Given the description of an element on the screen output the (x, y) to click on. 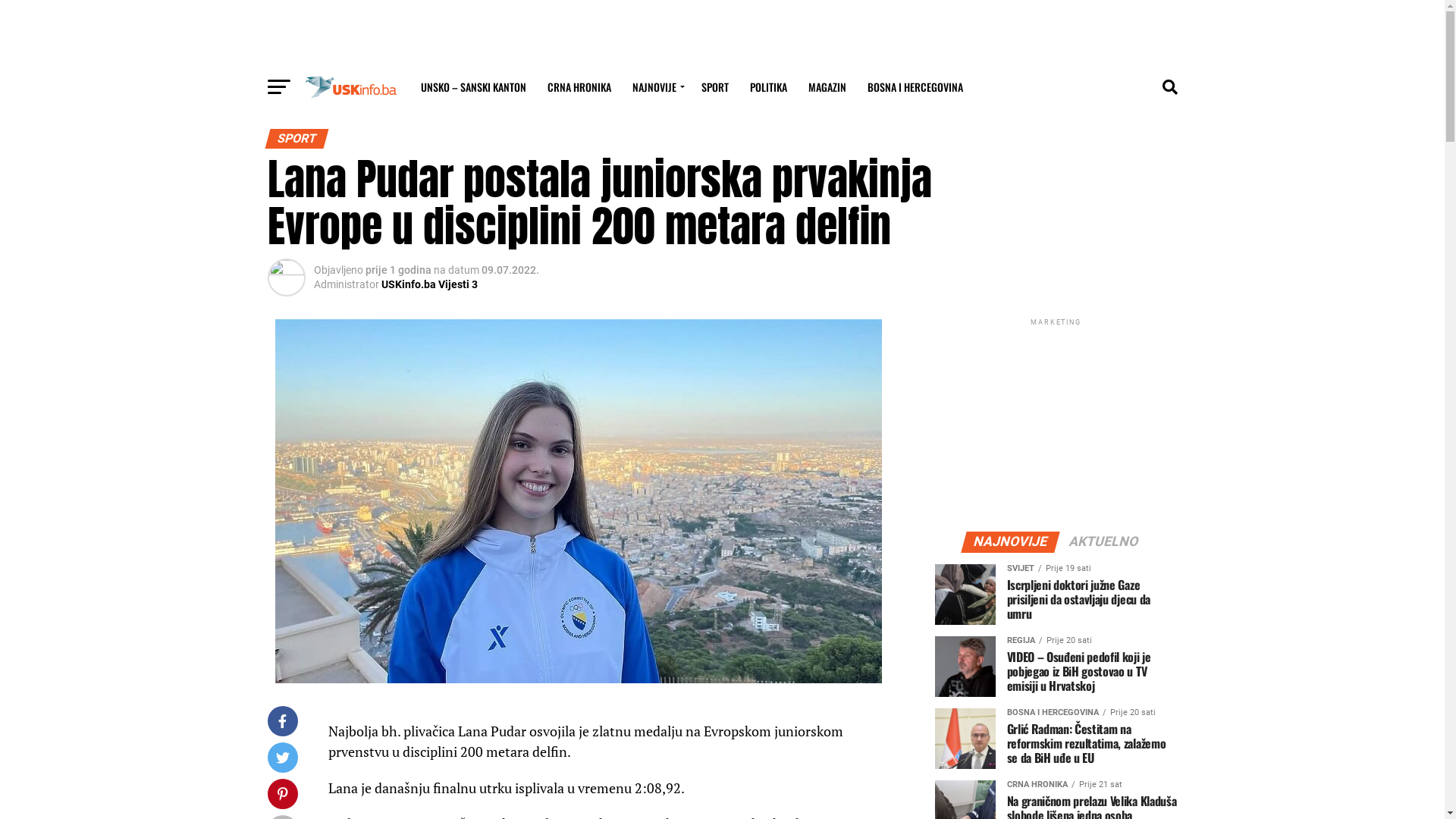
NAJNOVIJE Element type: text (656, 87)
POLITIKA Element type: text (767, 87)
AKTUELNO Element type: text (1103, 542)
Advertisement Element type: hover (1055, 423)
MAGAZIN Element type: text (827, 87)
Advertisement Element type: hover (722, 34)
CRNA HRONIKA Element type: text (579, 87)
BOSNA I HERCEGOVINA Element type: text (915, 87)
SPORT Element type: text (714, 87)
NAJNOVIJE Element type: text (1010, 542)
USKinfo.ba Vijesti 3 Element type: text (428, 284)
